Given the description of an element on the screen output the (x, y) to click on. 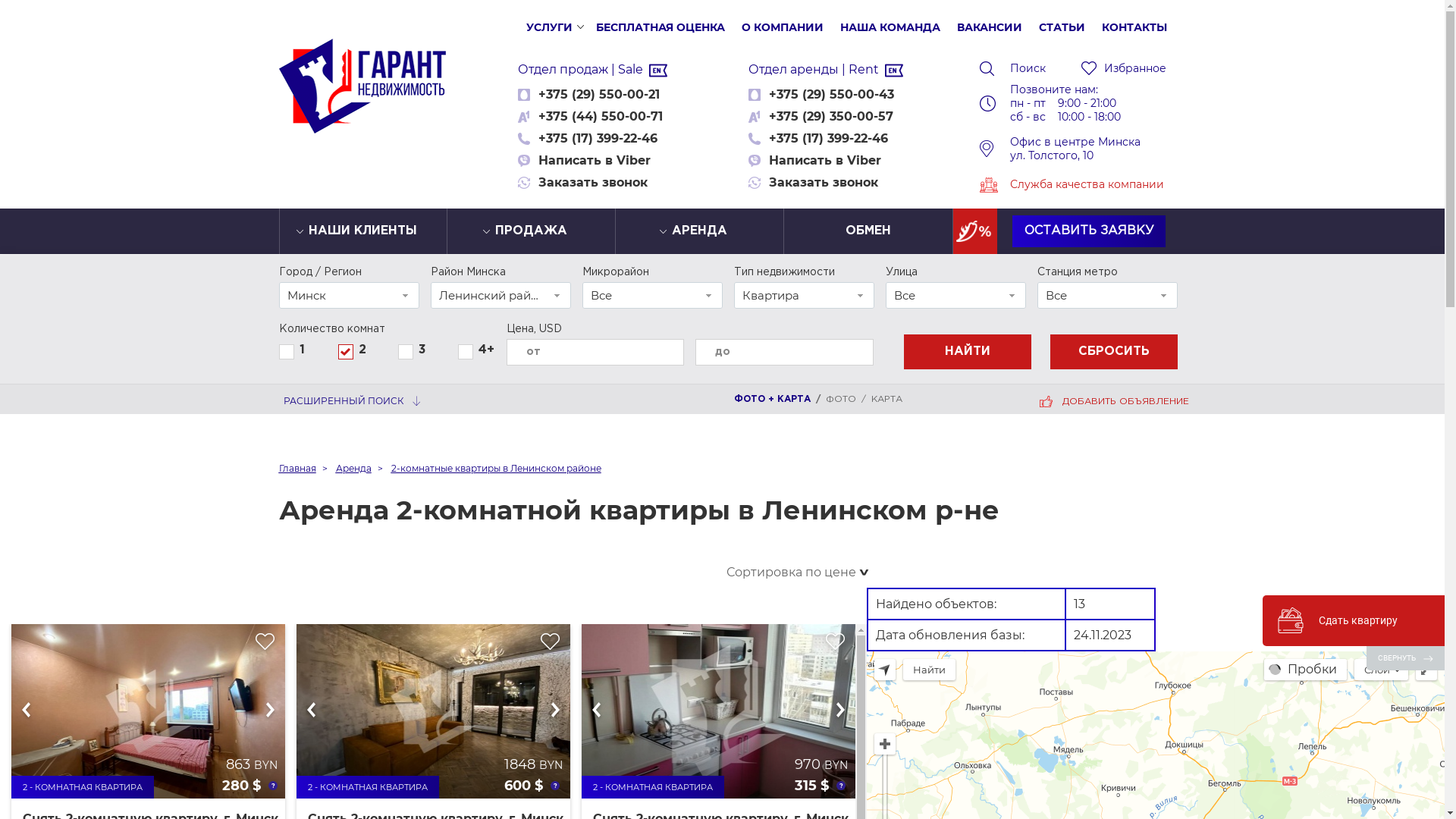
+375 (44) 550-00-71 Element type: text (600, 116)
+375 (29) 350-00-57 Element type: text (830, 116)
Real estate agency in Minsk Element type: hover (658, 70)
Y Element type: text (280, 350)
Long-time rental in Minsk for foreign residents Element type: hover (893, 70)
Y Element type: text (460, 350)
Y Element type: text (400, 350)
+375 (29) 550-00-43 Element type: text (831, 94)
+375 (29) 550-00-21 Element type: text (598, 94)
Y Element type: text (340, 350)
+375 (17) 399-22-46 Element type: text (597, 138)
+375 (17) 399-22-46 Element type: text (828, 138)
